Given the description of an element on the screen output the (x, y) to click on. 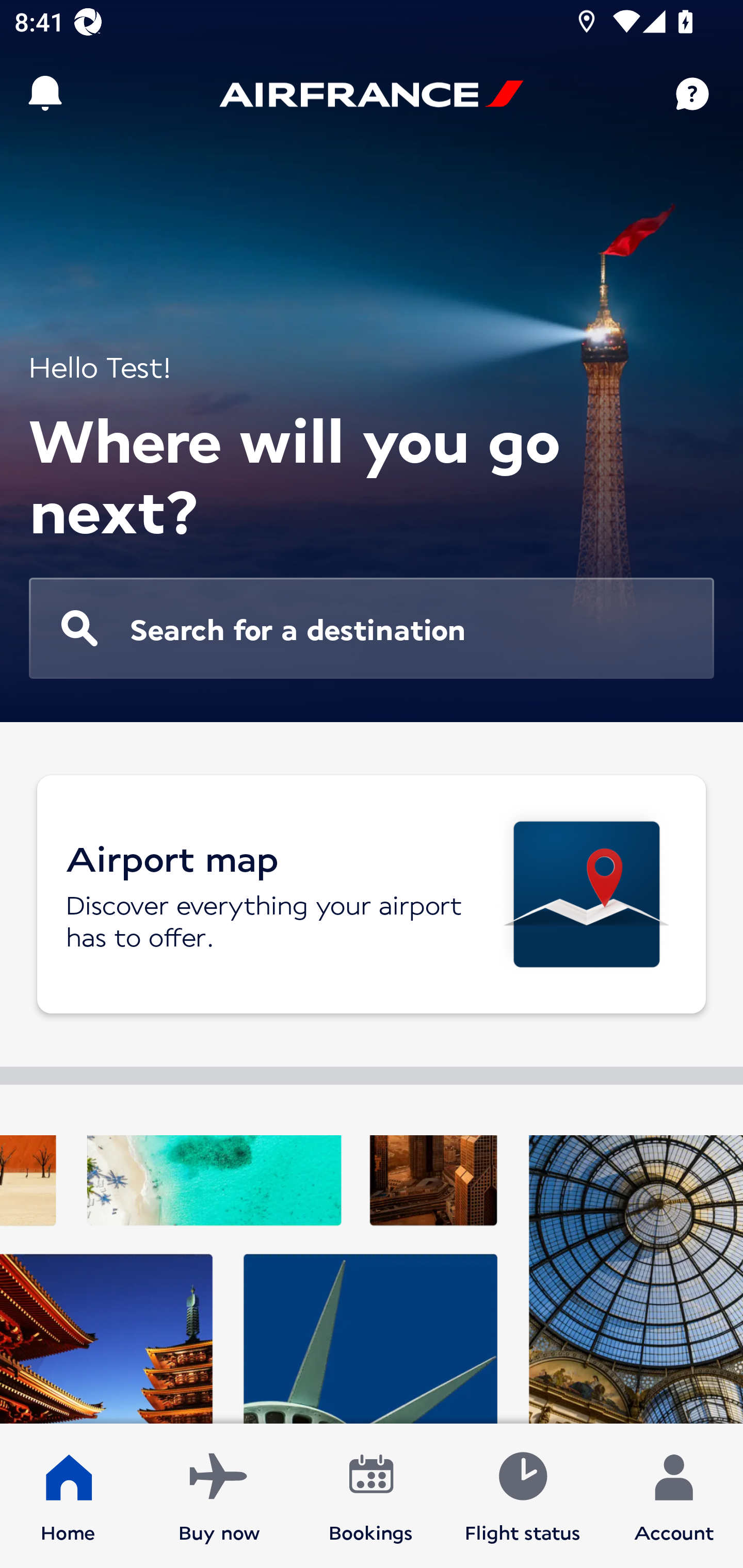
Search for a destination (371, 627)
Buy now (219, 1495)
Bookings (370, 1495)
Flight status (522, 1495)
Account (674, 1495)
